Given the description of an element on the screen output the (x, y) to click on. 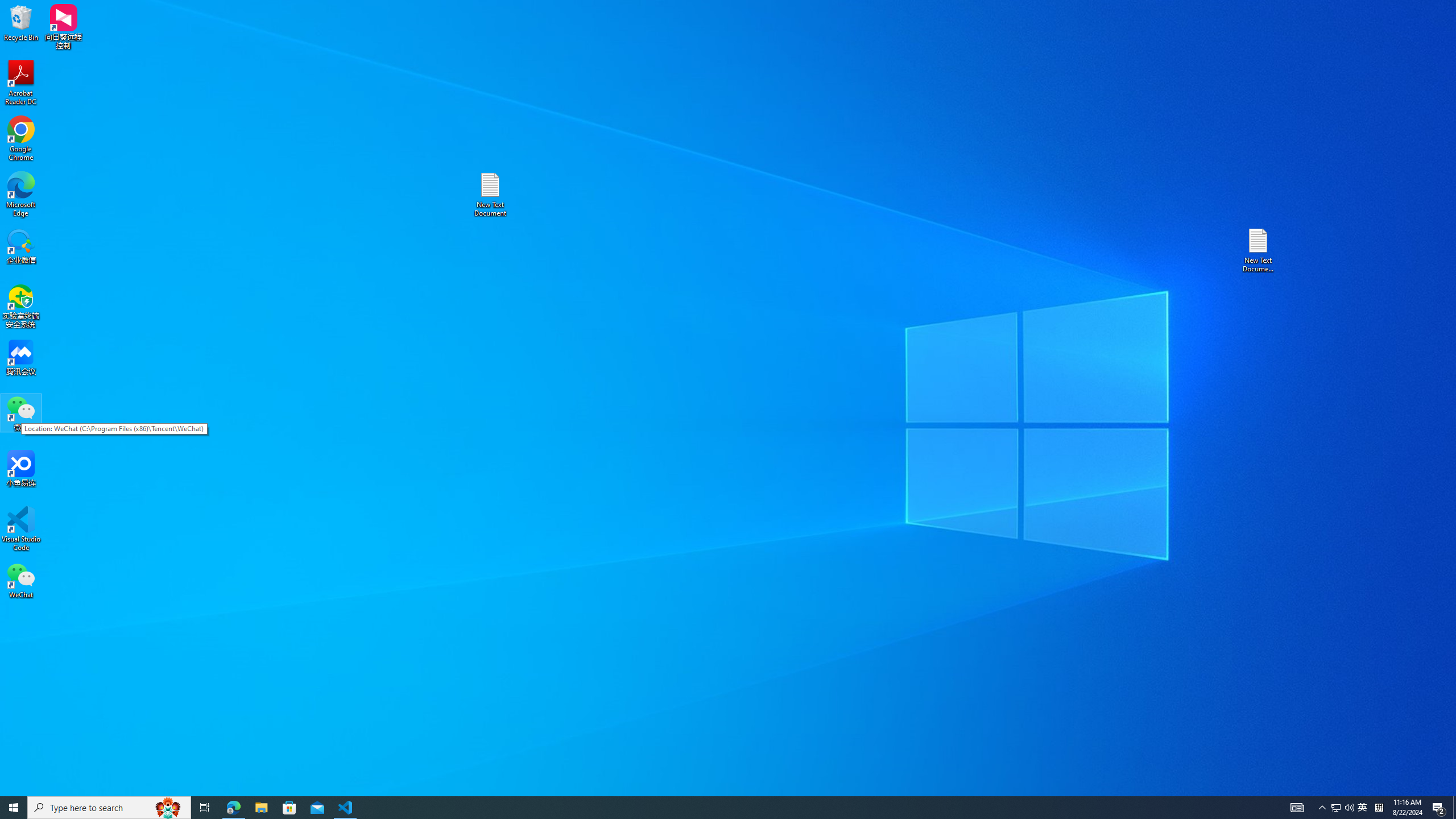
New Text Document (2) (1258, 250)
Visual Studio Code - 1 running window (345, 807)
New Text Document (489, 194)
Visual Studio Code (21, 528)
Task View (204, 807)
Google Chrome (21, 138)
File Explorer (1335, 807)
Q2790: 100% (261, 807)
Tray Input Indicator - Chinese (Simplified, China) (1349, 807)
